Given the description of an element on the screen output the (x, y) to click on. 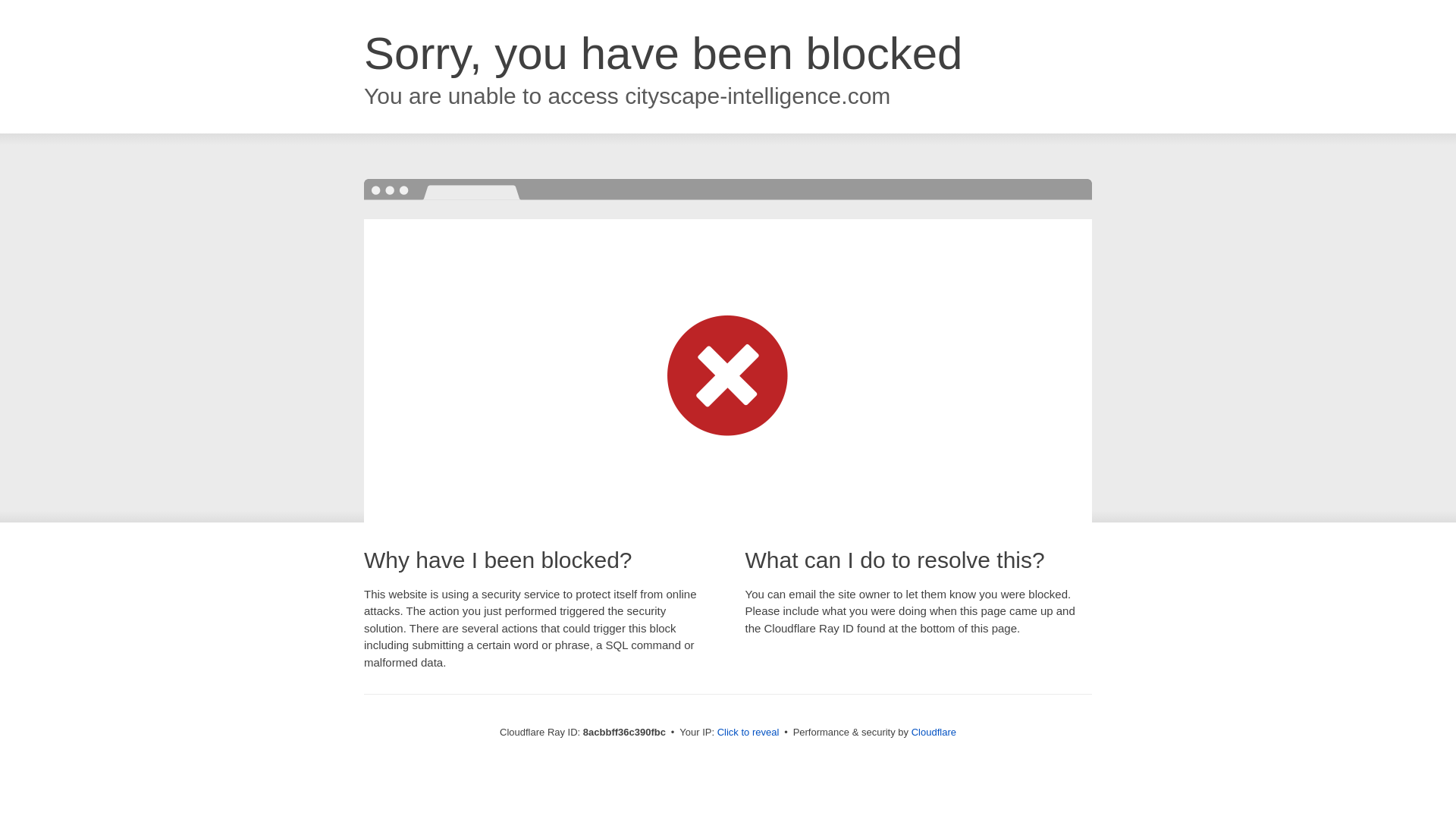
Cloudflare (933, 731)
Click to reveal (747, 732)
